Given the description of an element on the screen output the (x, y) to click on. 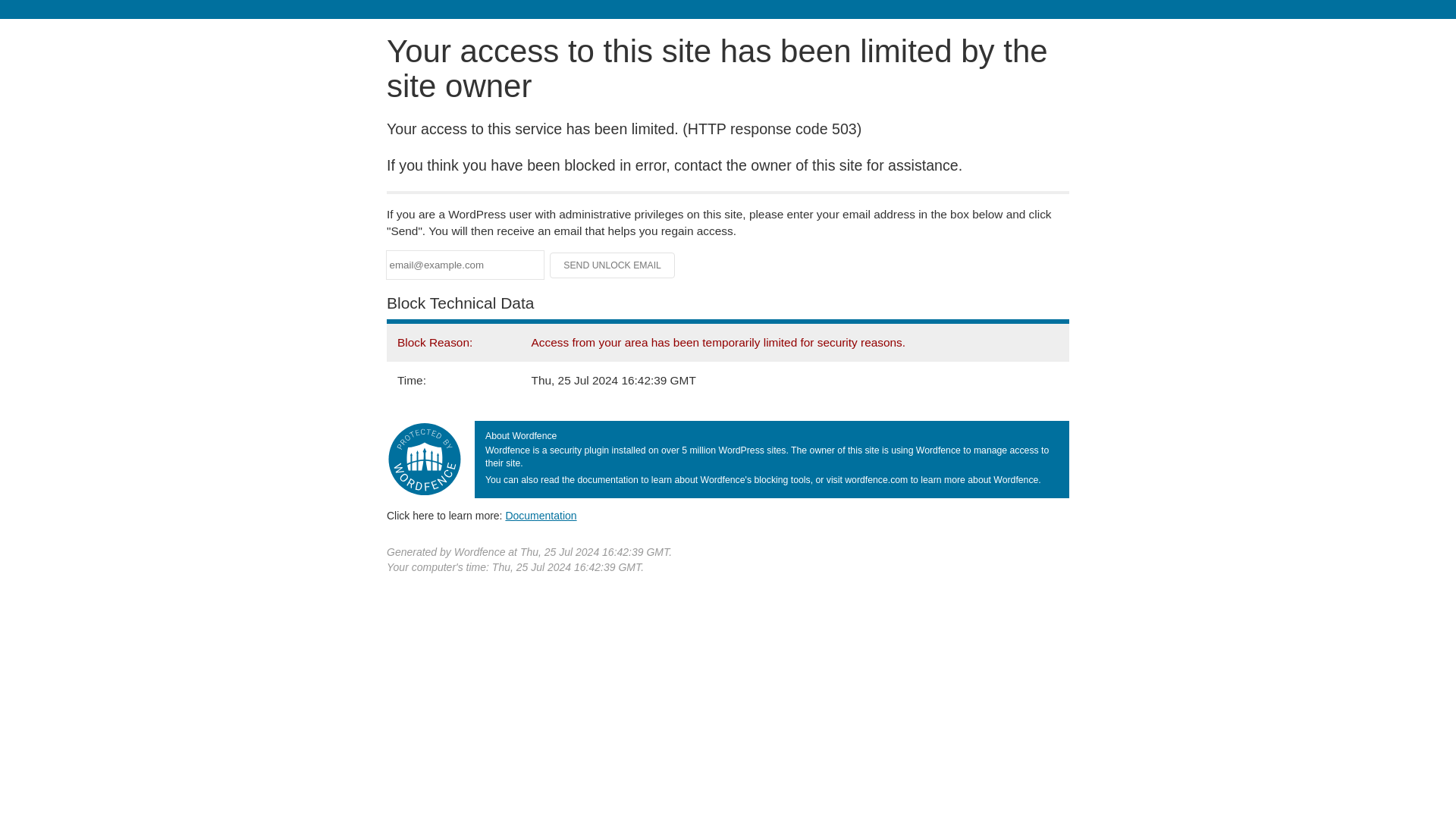
Send Unlock Email (612, 265)
Documentation (540, 515)
Send Unlock Email (612, 265)
